Given the description of an element on the screen output the (x, y) to click on. 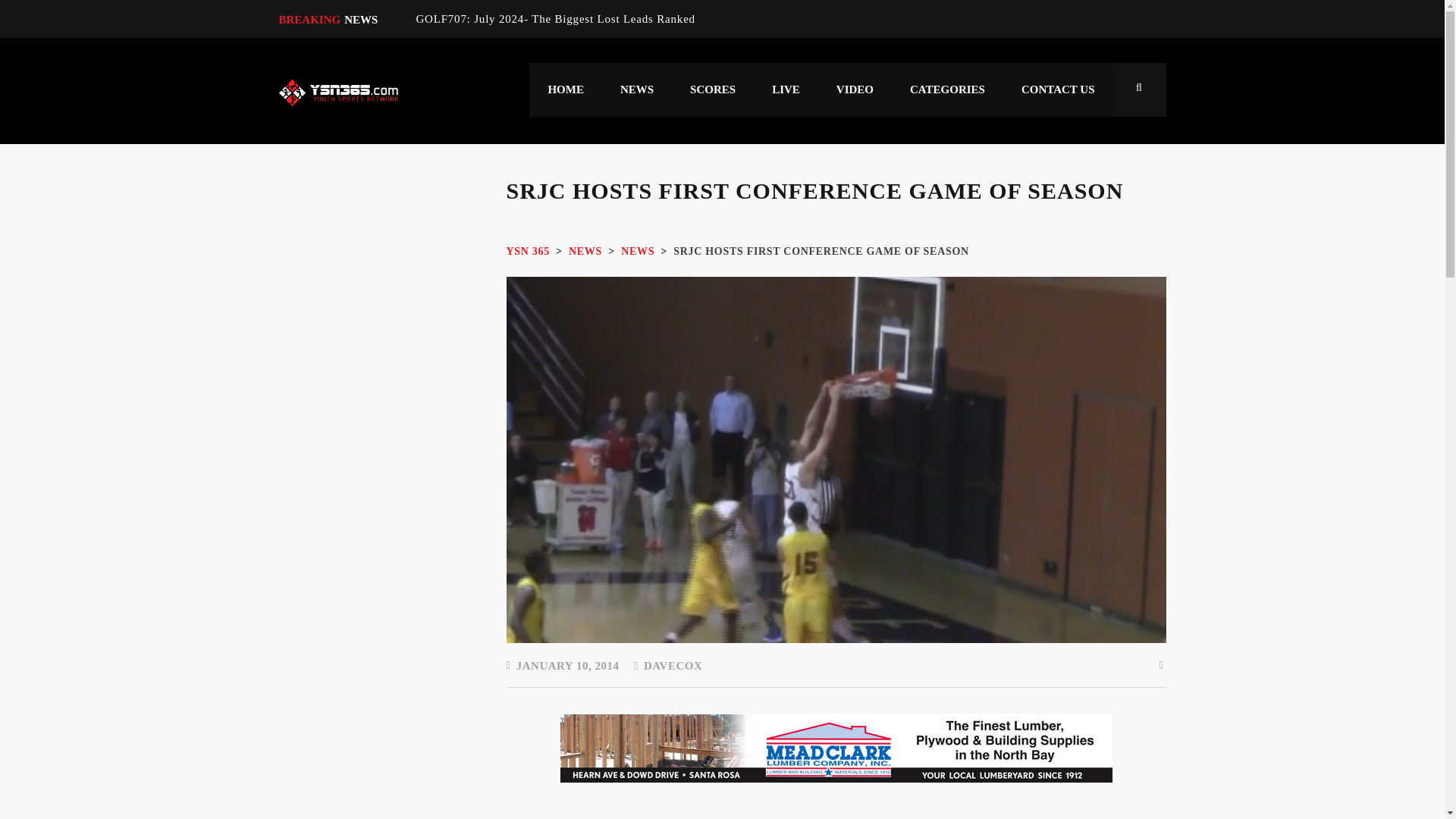
CONTACT US (1058, 89)
VIDEO (854, 89)
NEWS (636, 89)
Home (338, 92)
LIVE (786, 89)
CATEGORIES (947, 89)
HOME (565, 89)
Go to the News Category archives. (637, 251)
SCORES (712, 89)
Go to YSN 365. (528, 251)
Go to News. (585, 251)
